Given the description of an element on the screen output the (x, y) to click on. 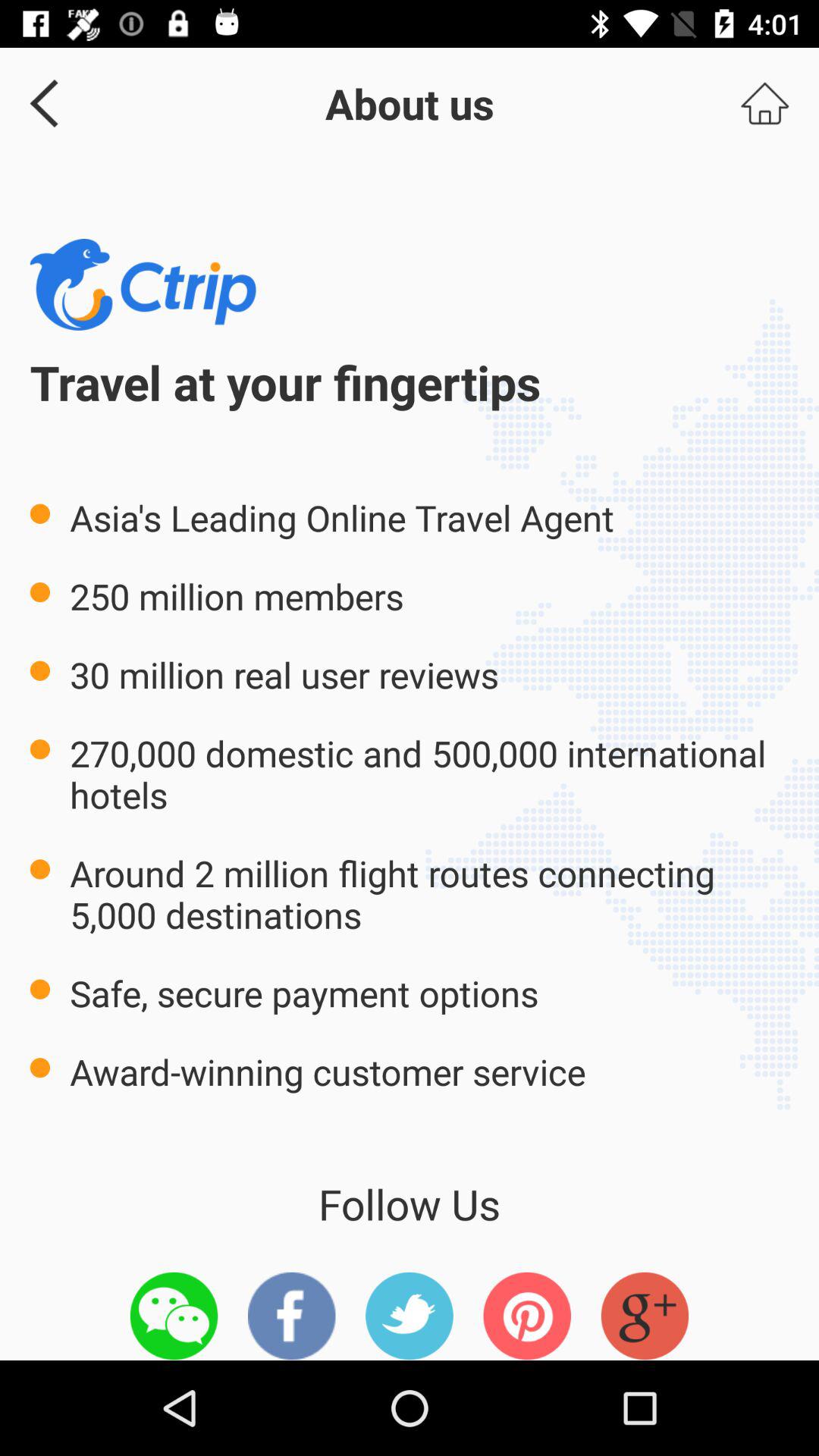
go to homepage (764, 103)
